Given the description of an element on the screen output the (x, y) to click on. 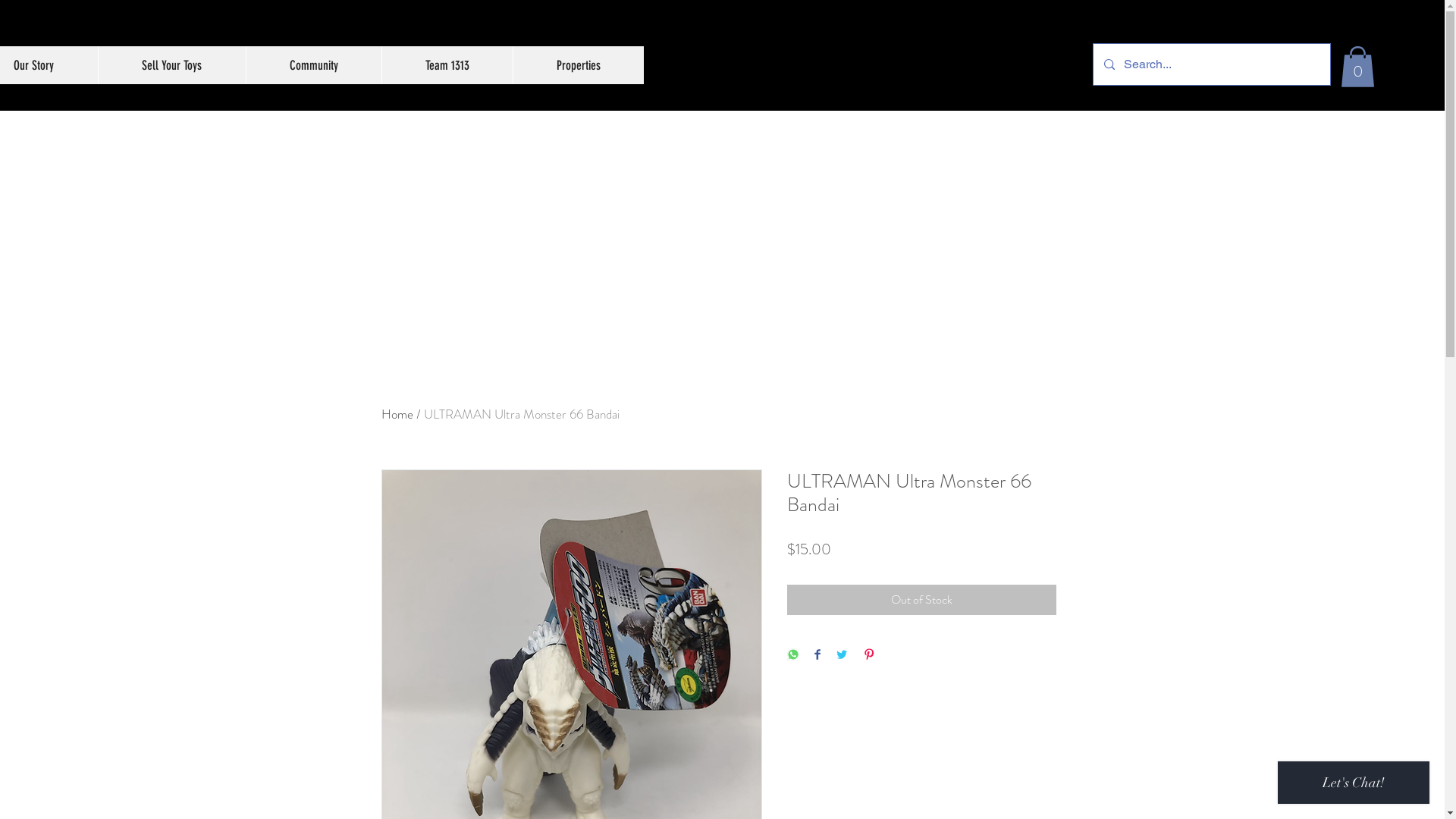
Out of Stock Element type: text (921, 599)
0 Element type: text (1357, 66)
Properties Element type: text (577, 65)
Team 1313 Element type: text (445, 65)
ULTRAMAN Ultra Monster 66 Bandai Element type: text (521, 413)
Community Element type: text (313, 65)
Home Element type: text (397, 413)
Sell Your Toys Element type: text (170, 65)
